Given the description of an element on the screen output the (x, y) to click on. 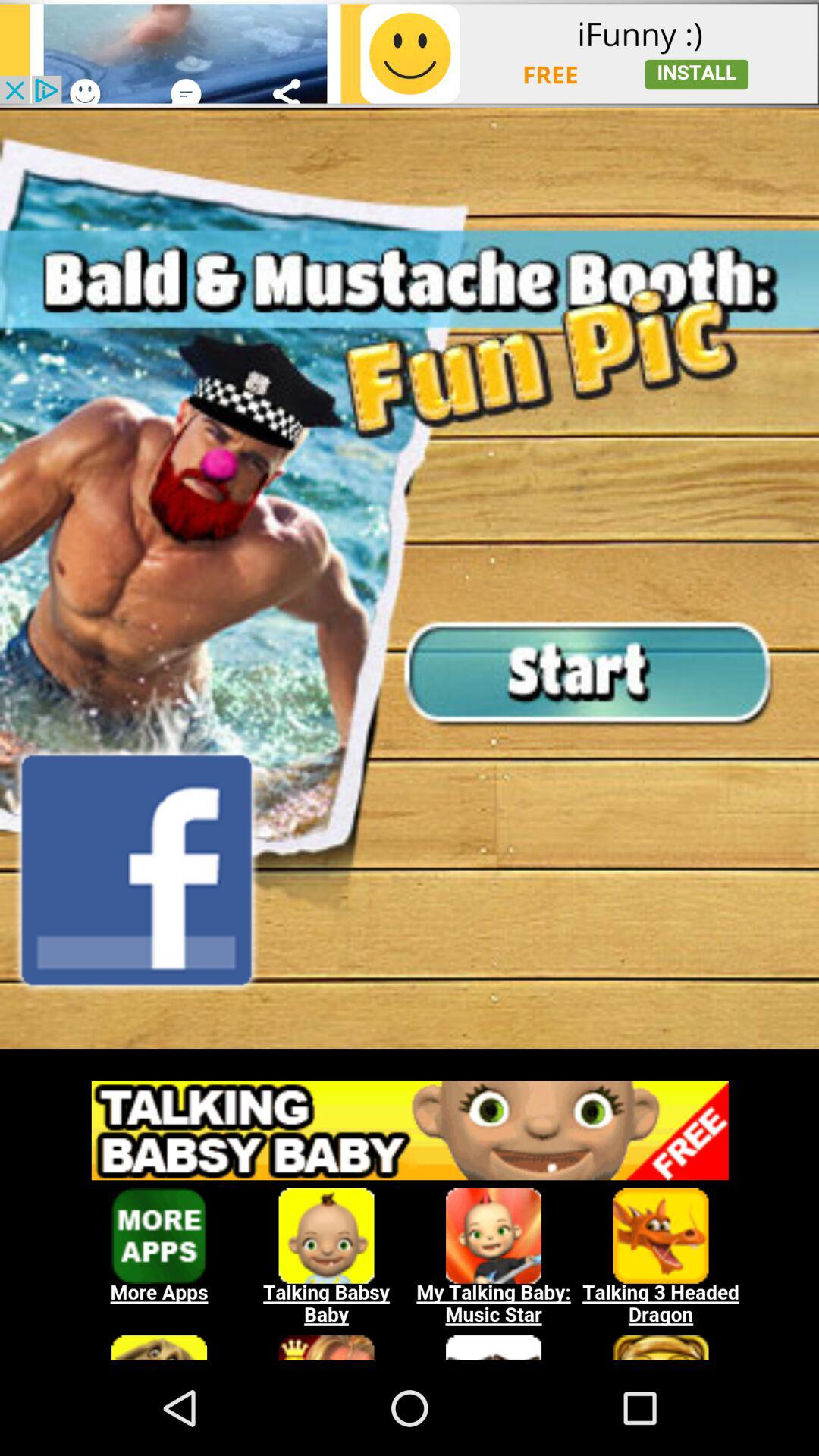
games page (409, 1212)
